Given the description of an element on the screen output the (x, y) to click on. 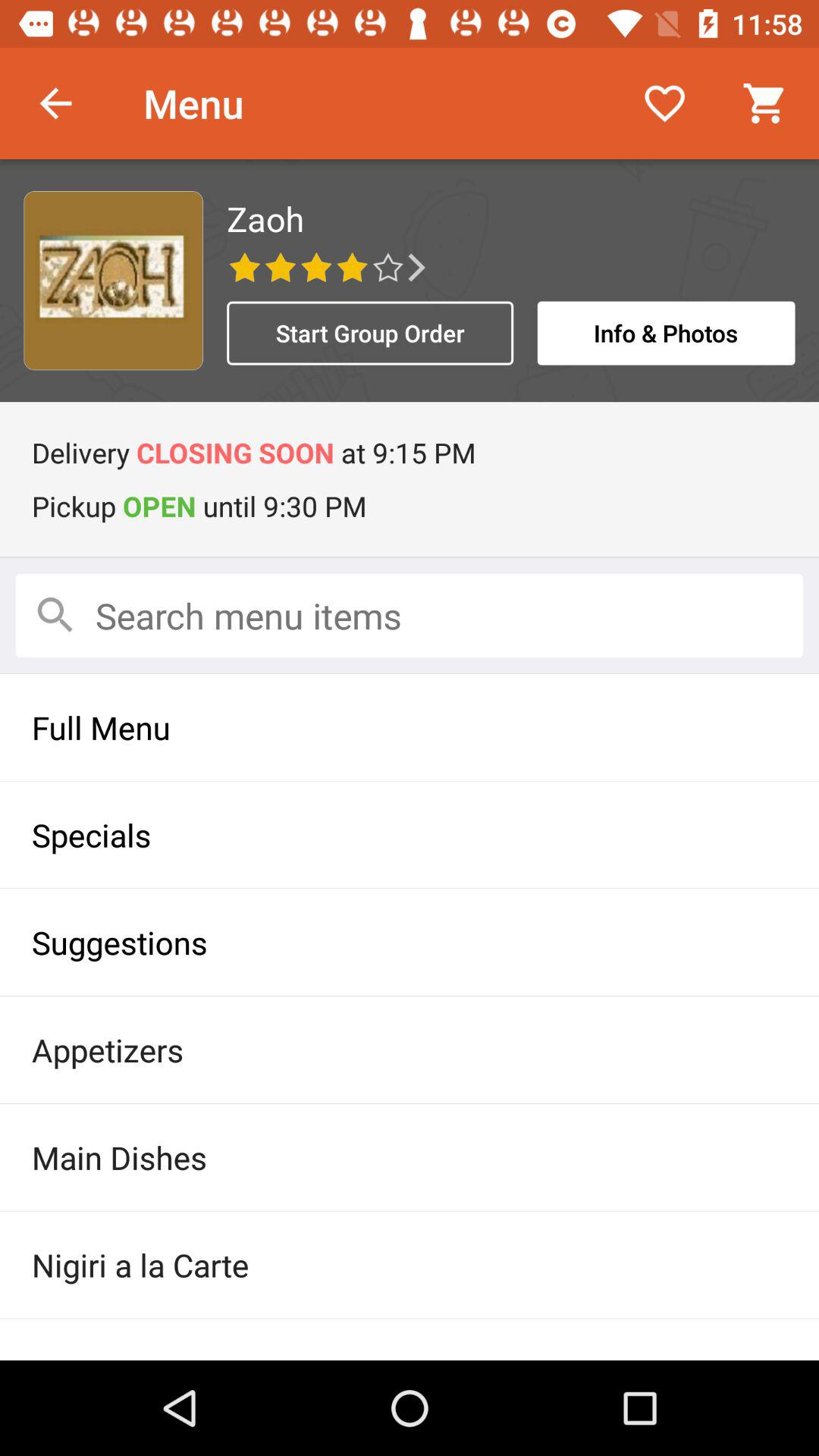
swipe to the appetizers icon (409, 1049)
